Given the description of an element on the screen output the (x, y) to click on. 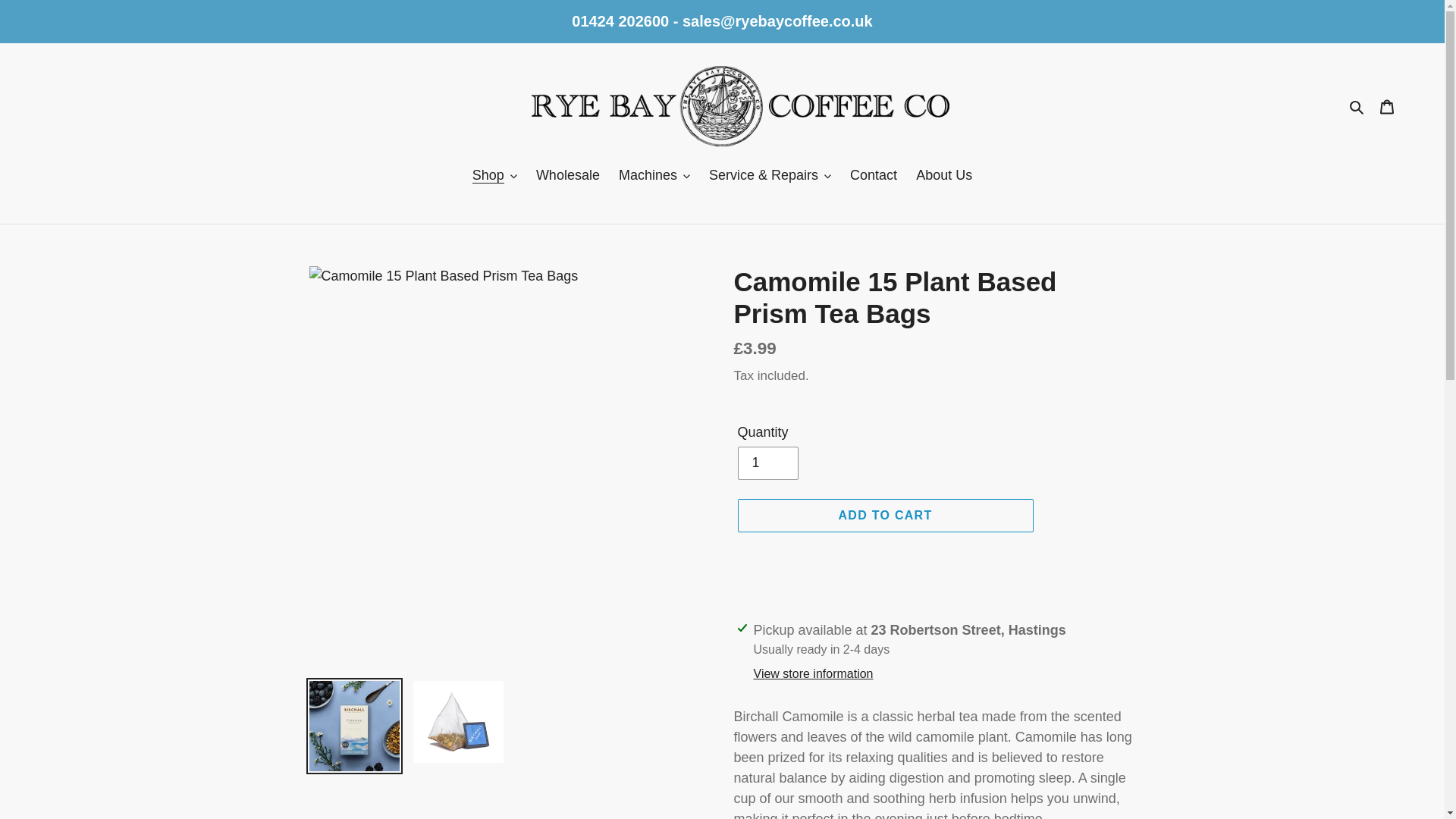
Search (1357, 106)
Wholesale (567, 176)
Machines (654, 176)
Cart (1387, 105)
1 (766, 462)
Shop (494, 176)
